Given the description of an element on the screen output the (x, y) to click on. 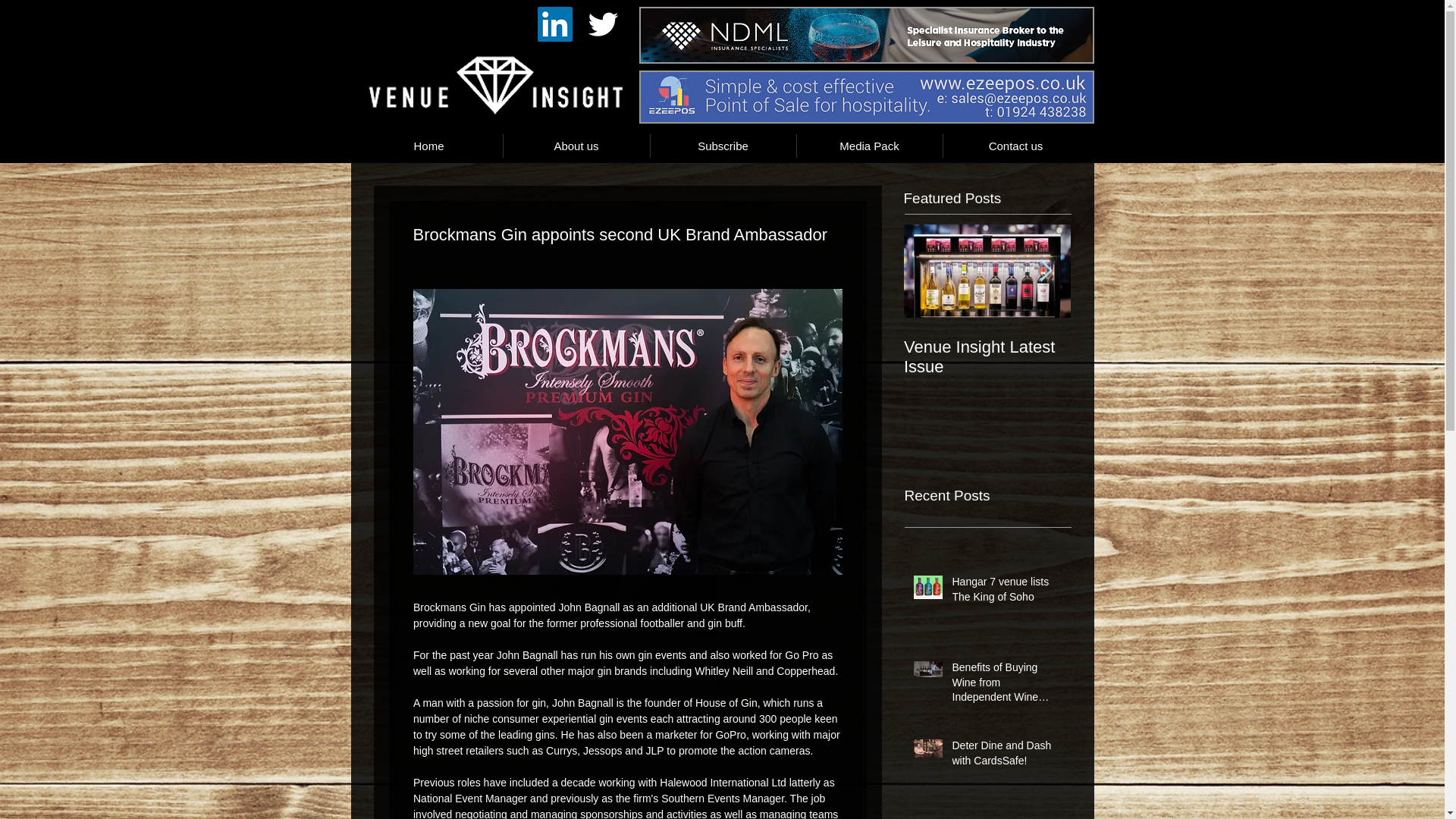
Venue Insight Latest Issue (987, 356)
Benefits of Buying Wine from Independent Wine Merchants (1006, 685)
Home (428, 146)
Media Pack (869, 146)
Contact us (1016, 146)
About us (576, 146)
Subscribe (723, 146)
Hangar 7 venue lists The King of Soho (1006, 592)
Deter Dine and Dash with CardsSafe! (1006, 755)
